Given the description of an element on the screen output the (x, y) to click on. 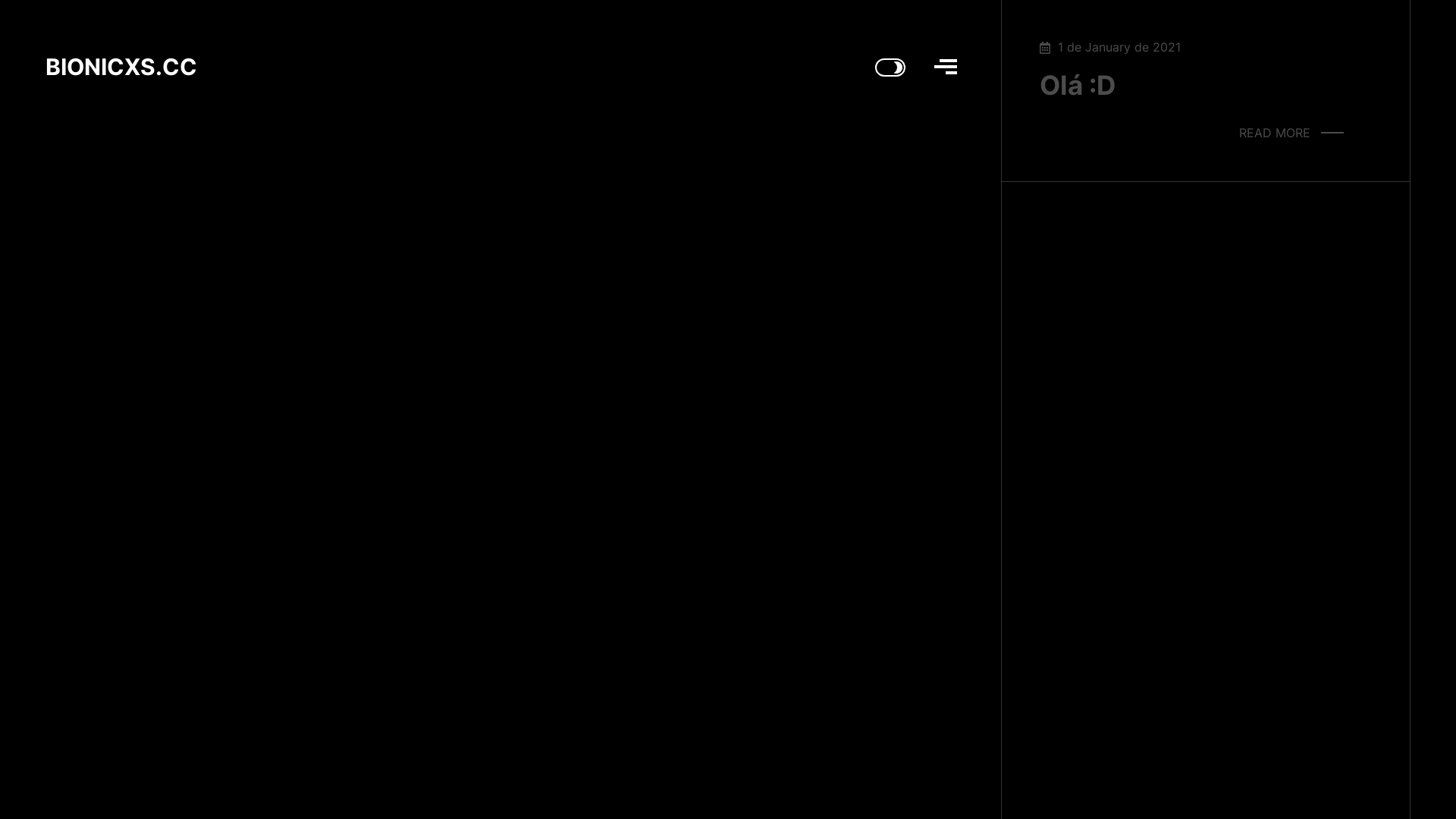
BIONICXS.CC Element type: text (121, 69)
READ MORE Element type: text (1291, 132)
